Given the description of an element on the screen output the (x, y) to click on. 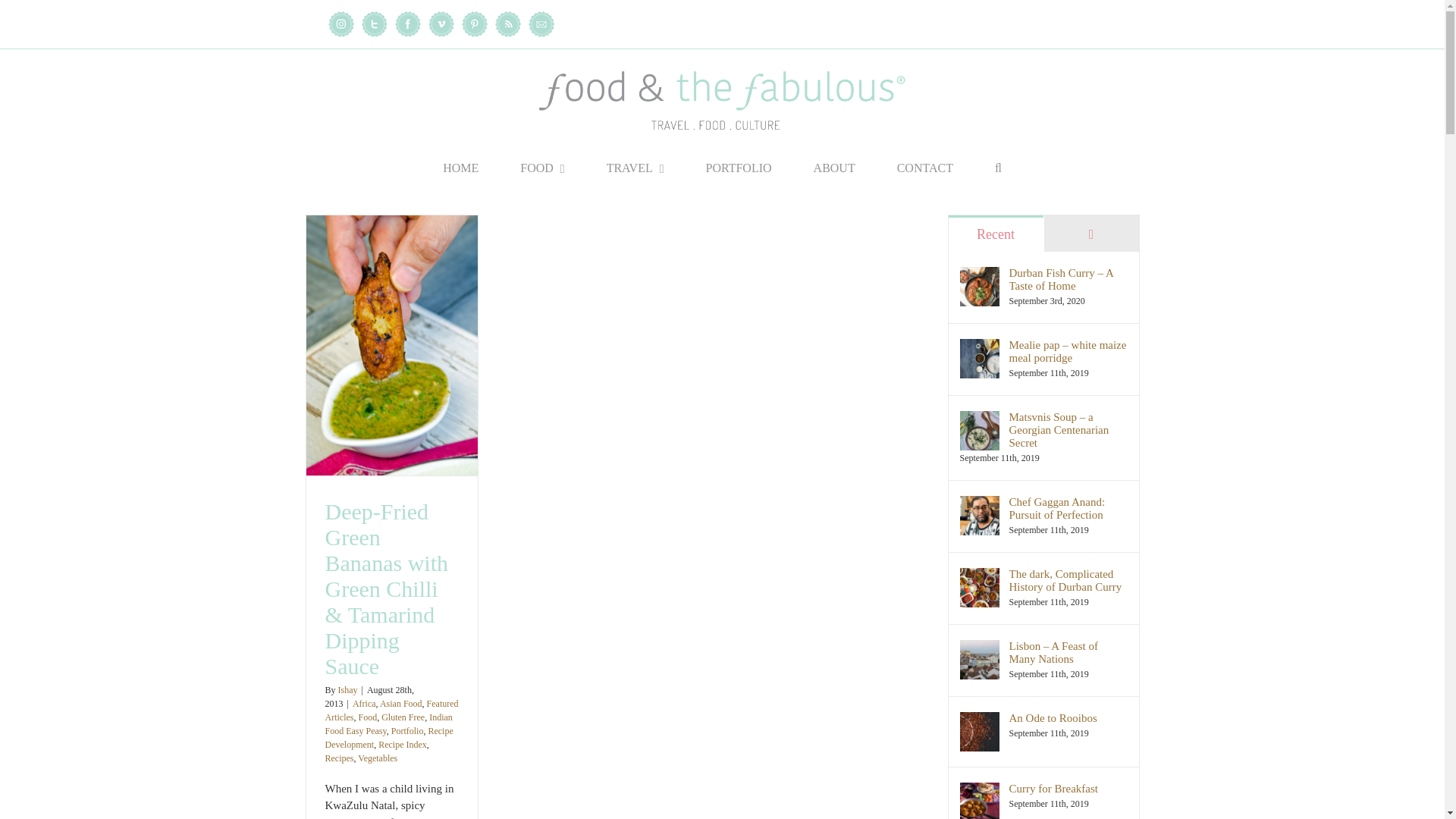
Pinterest (473, 23)
Twitter (374, 23)
Vimeo (440, 23)
Featured Articles (391, 710)
RSS Feed (507, 23)
Ishay (347, 689)
Vimeo (440, 23)
Facebook (407, 23)
Gluten Free (403, 716)
ABOUT (834, 168)
